Given the description of an element on the screen output the (x, y) to click on. 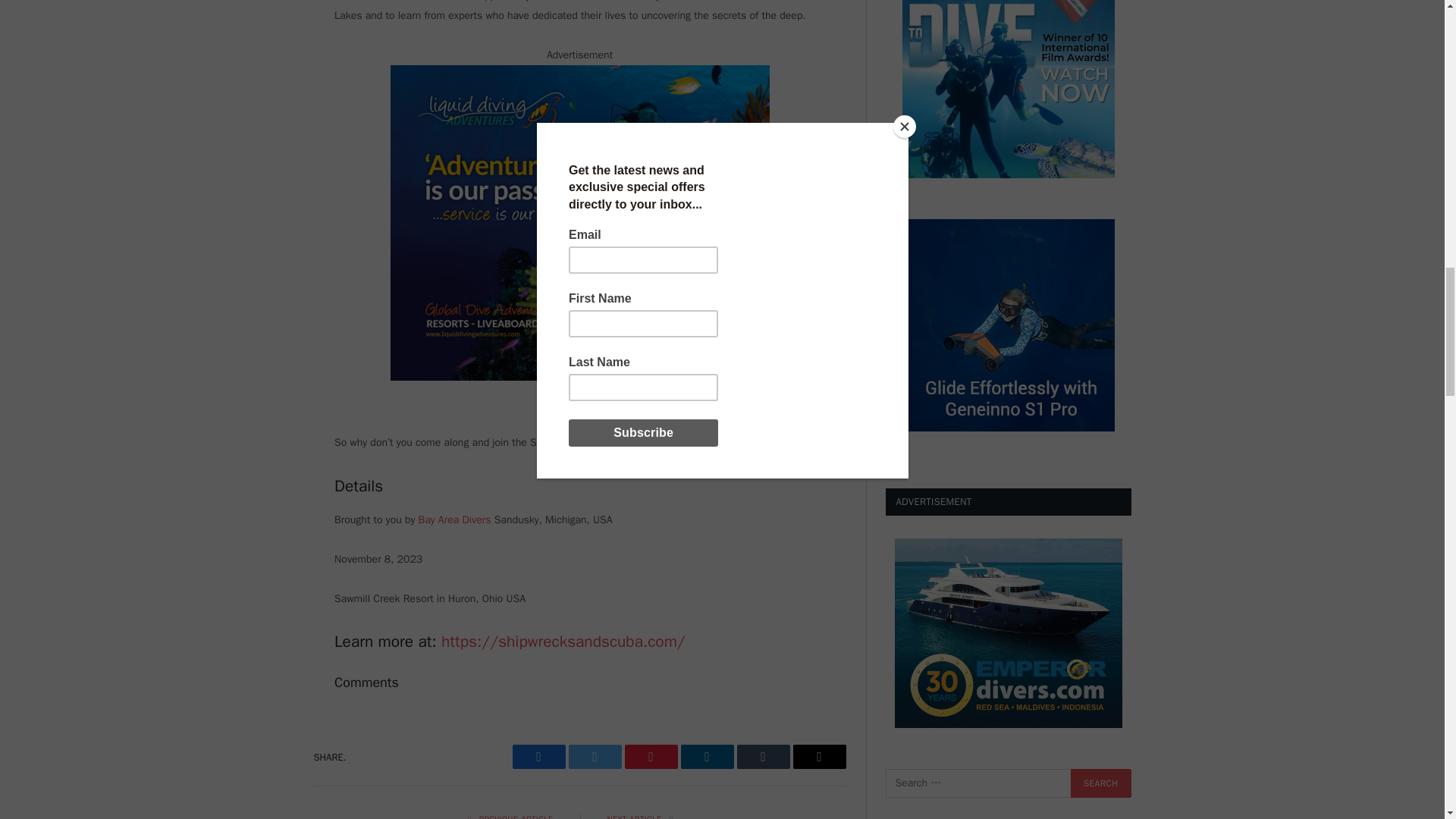
Search (1100, 783)
Search (1100, 783)
